Given the description of an element on the screen output the (x, y) to click on. 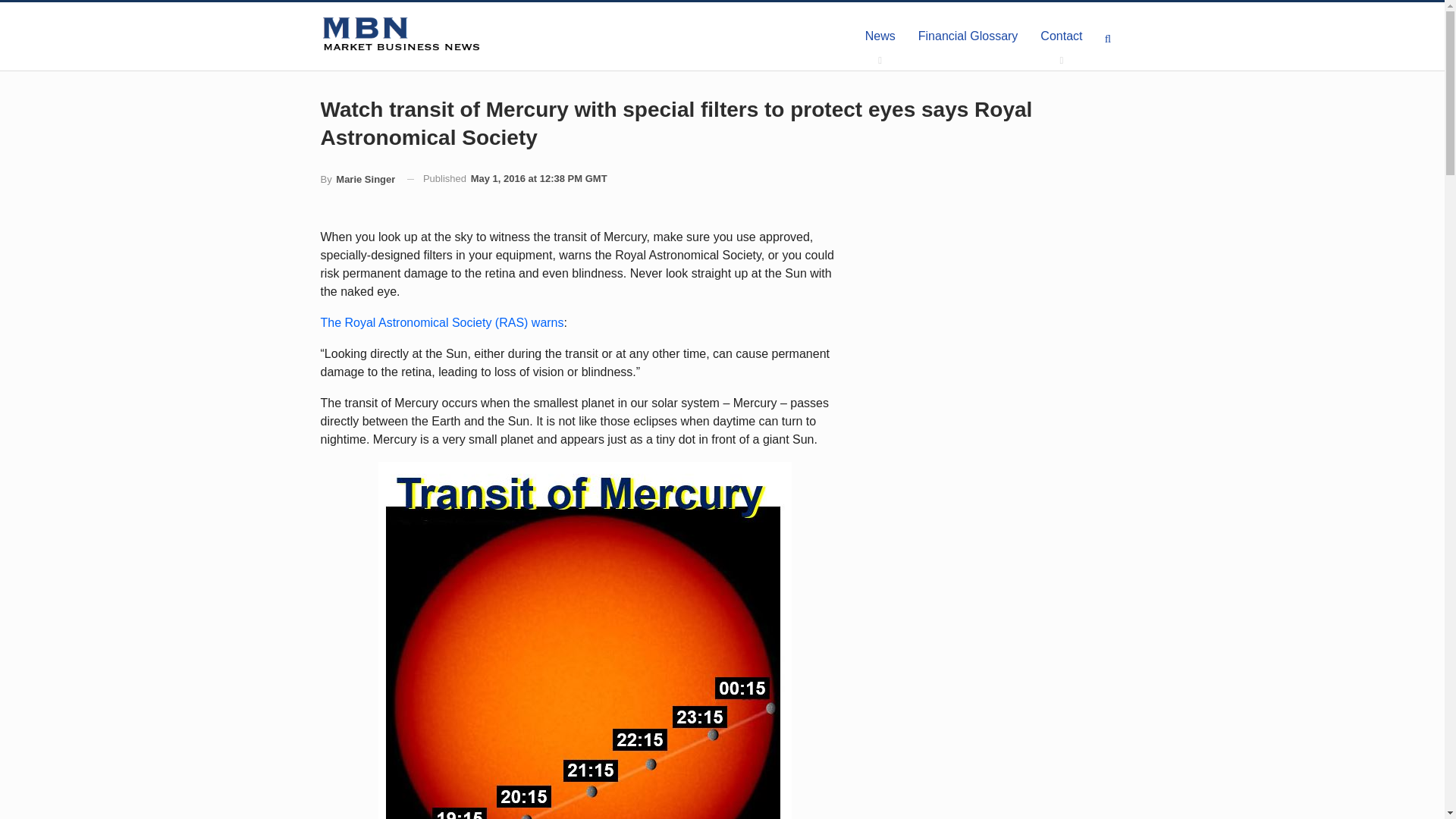
Browse Author Articles (357, 179)
Financial Glossary (968, 36)
Contact (1061, 36)
By Marie Singer (357, 179)
